Given the description of an element on the screen output the (x, y) to click on. 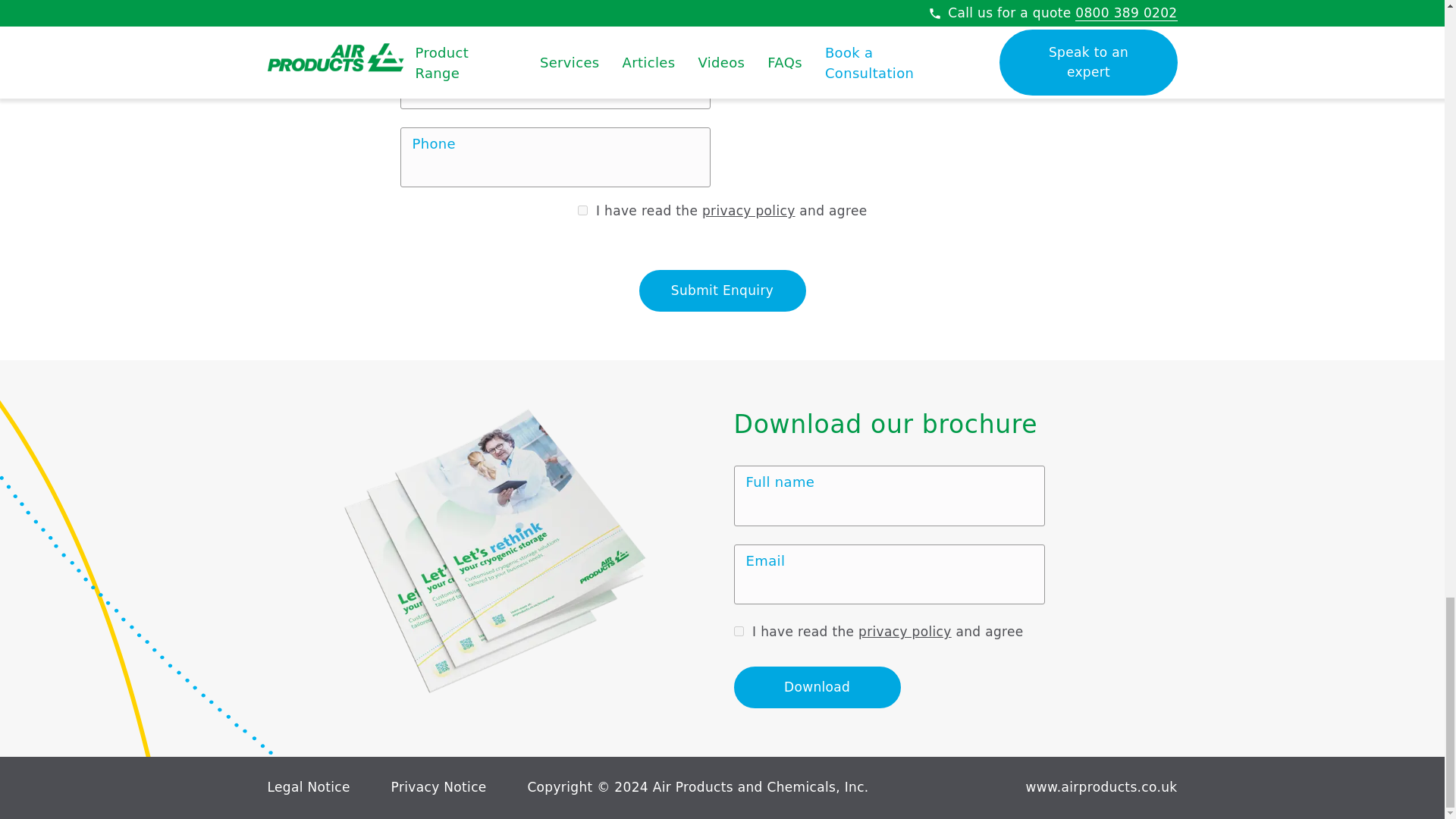
privacy policy (905, 631)
accepted (738, 631)
Legal Notice (307, 787)
www.airproducts.co.uk (1101, 787)
privacy policy (747, 210)
Download (817, 687)
Air Products Brochure (494, 550)
accepted (583, 210)
Privacy Notice (438, 787)
Submit Enquiry (722, 291)
